Given the description of an element on the screen output the (x, y) to click on. 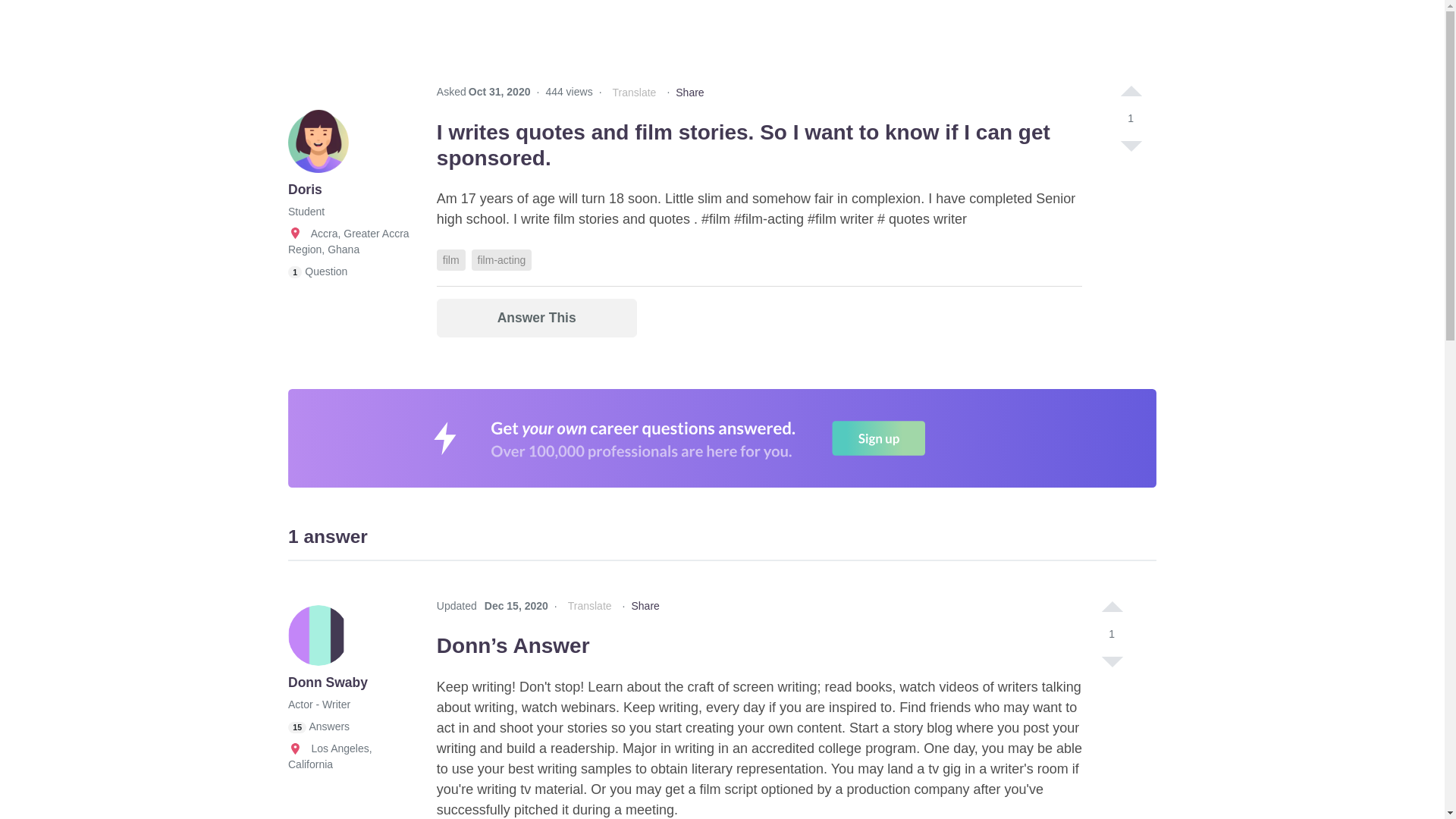
Share (689, 92)
Answer This (536, 317)
Translate (634, 92)
film-acting (501, 260)
film (450, 260)
